Given the description of an element on the screen output the (x, y) to click on. 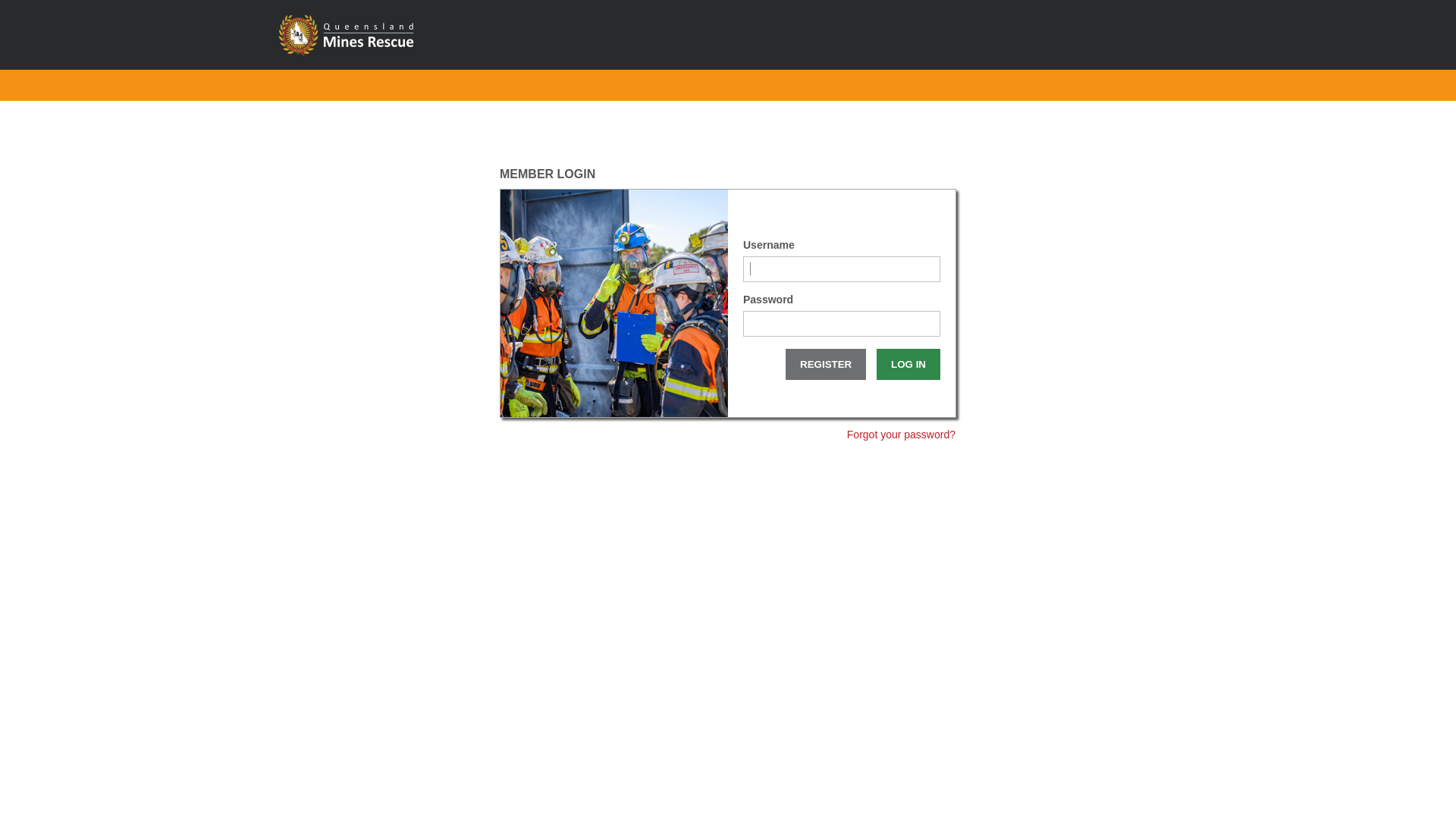
myQMRS Element type: text (379, 35)
Forgot your password? Element type: text (901, 434)
REGISTER Element type: text (825, 363)
LOG IN Element type: text (908, 363)
